Given the description of an element on the screen output the (x, y) to click on. 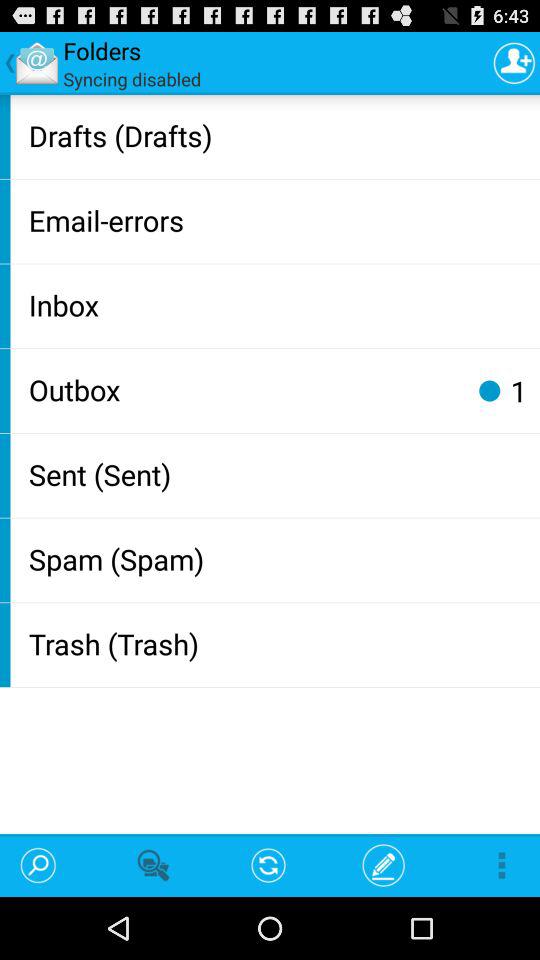
tap the inbox app (280, 304)
